Given the description of an element on the screen output the (x, y) to click on. 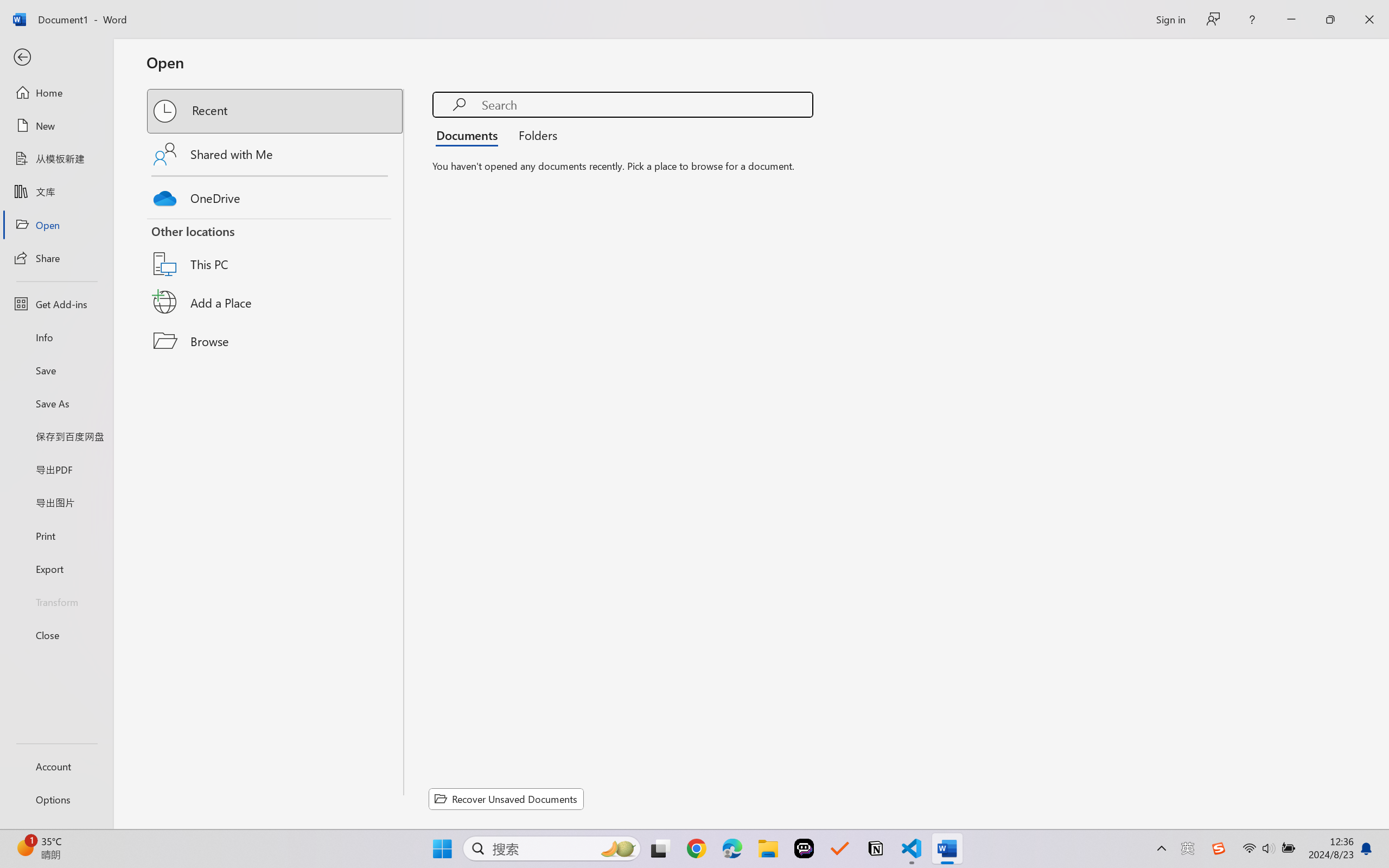
Print (56, 535)
Folders (534, 134)
Browse (275, 340)
Get Add-ins (56, 303)
Recent (275, 110)
Options (56, 798)
Add a Place (275, 302)
Info (56, 337)
